Given the description of an element on the screen output the (x, y) to click on. 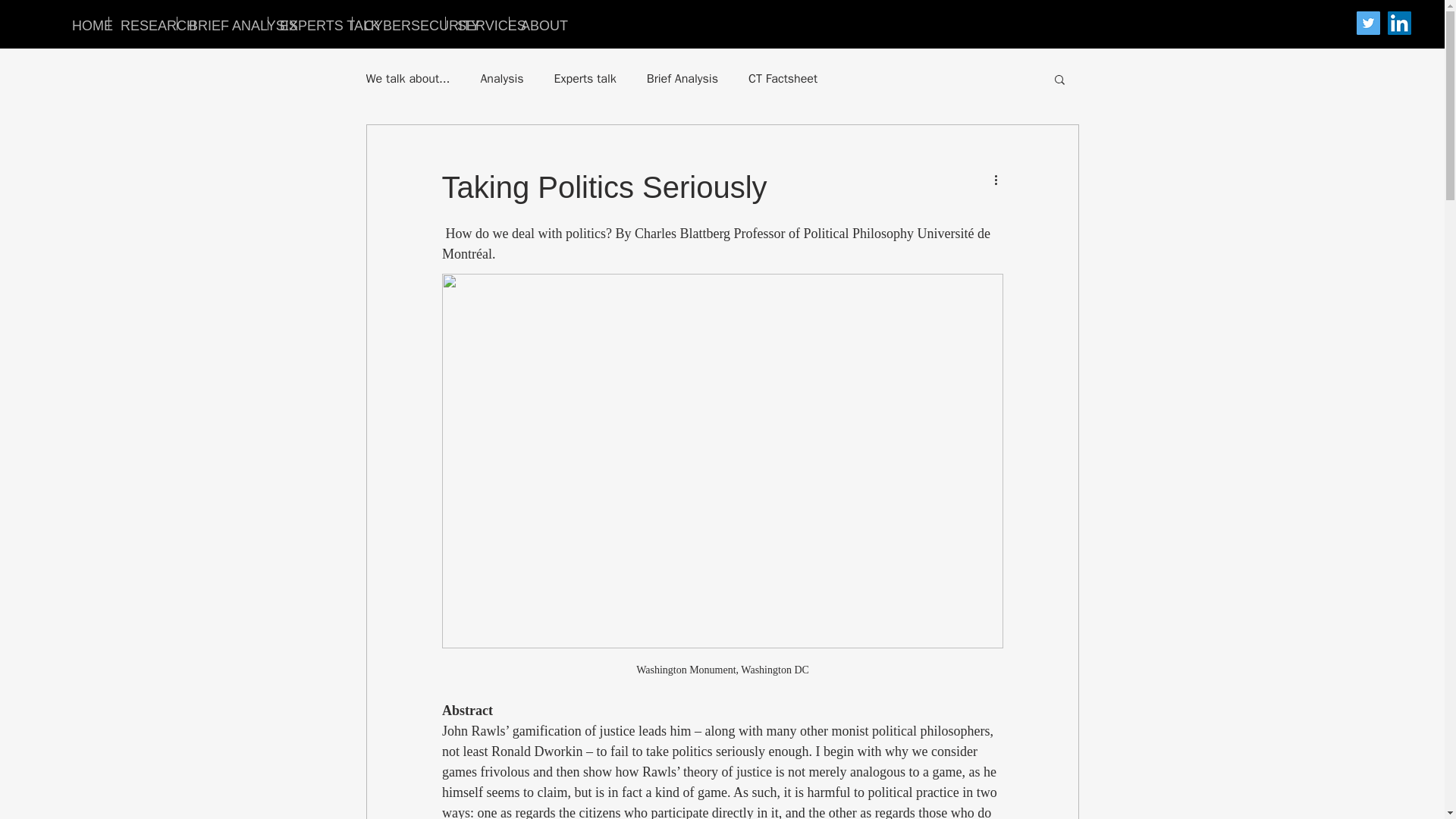
BRIEF ANALYSIS (222, 23)
We talk about... (407, 78)
RESEARCH (142, 23)
CT Factsheet (782, 78)
CYBERSECURITY (398, 23)
SERVICES (476, 23)
Experts talk (584, 78)
ABOUT (535, 23)
HOME (84, 23)
Analysis (501, 78)
EXPERTS TALK (309, 23)
Brief Analysis (681, 78)
